Given the description of an element on the screen output the (x, y) to click on. 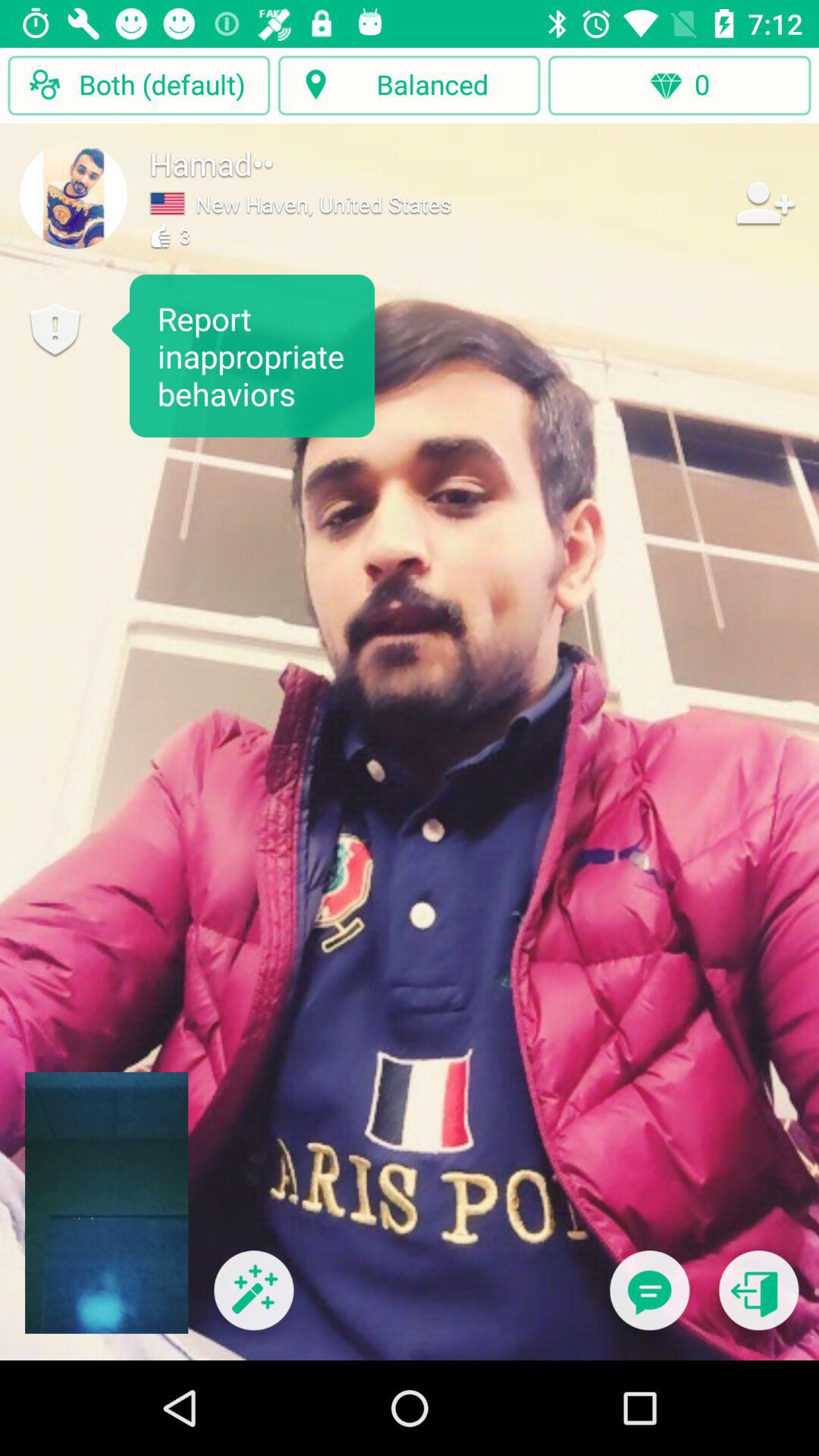
choose the icon at the bottom left corner (253, 1300)
